Given the description of an element on the screen output the (x, y) to click on. 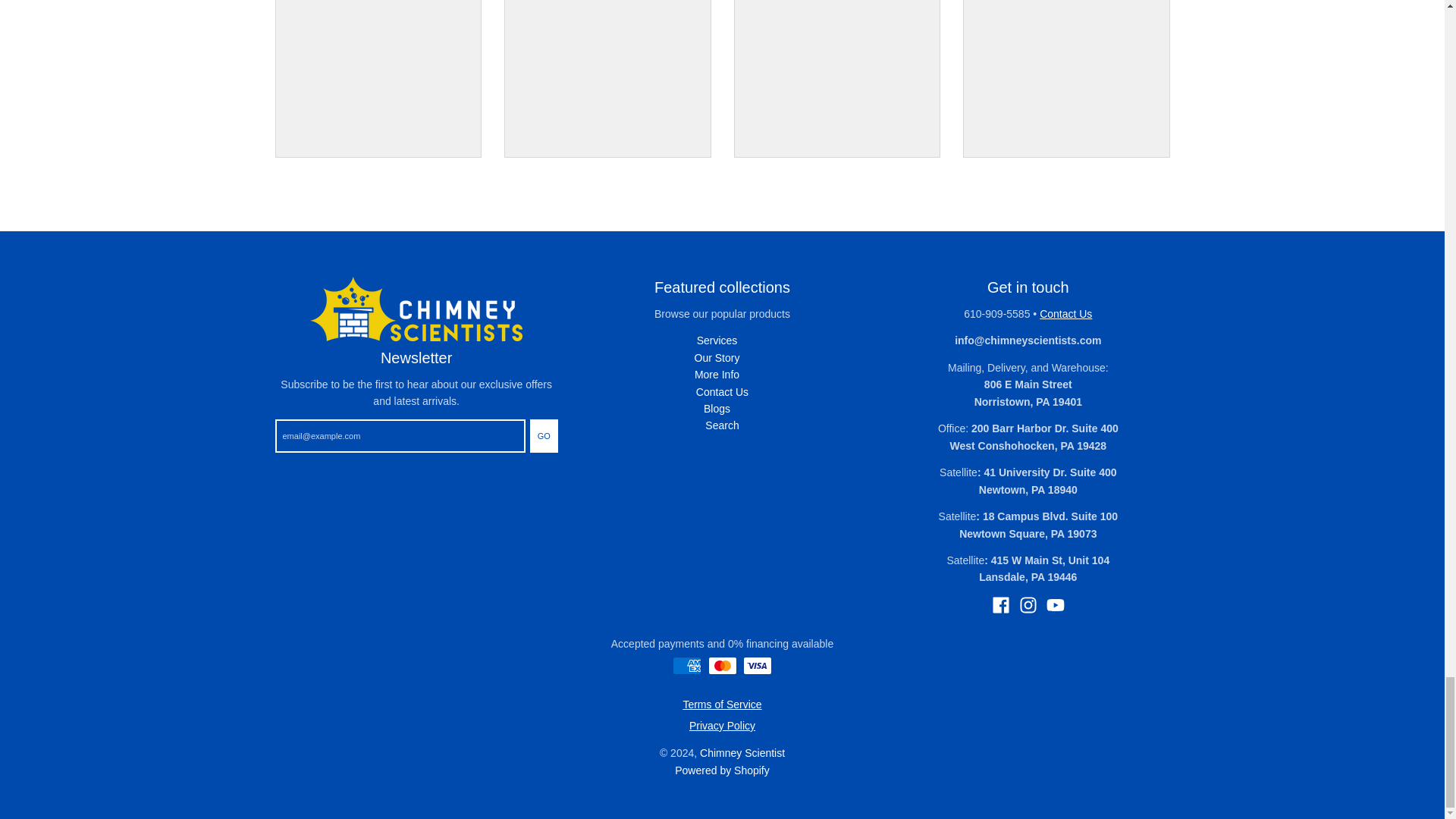
Instagram - Chimney Scientist (1027, 605)
Facebook - Chimney Scientist (1000, 605)
YouTube - Chimney Scientist (1055, 605)
